Given the description of an element on the screen output the (x, y) to click on. 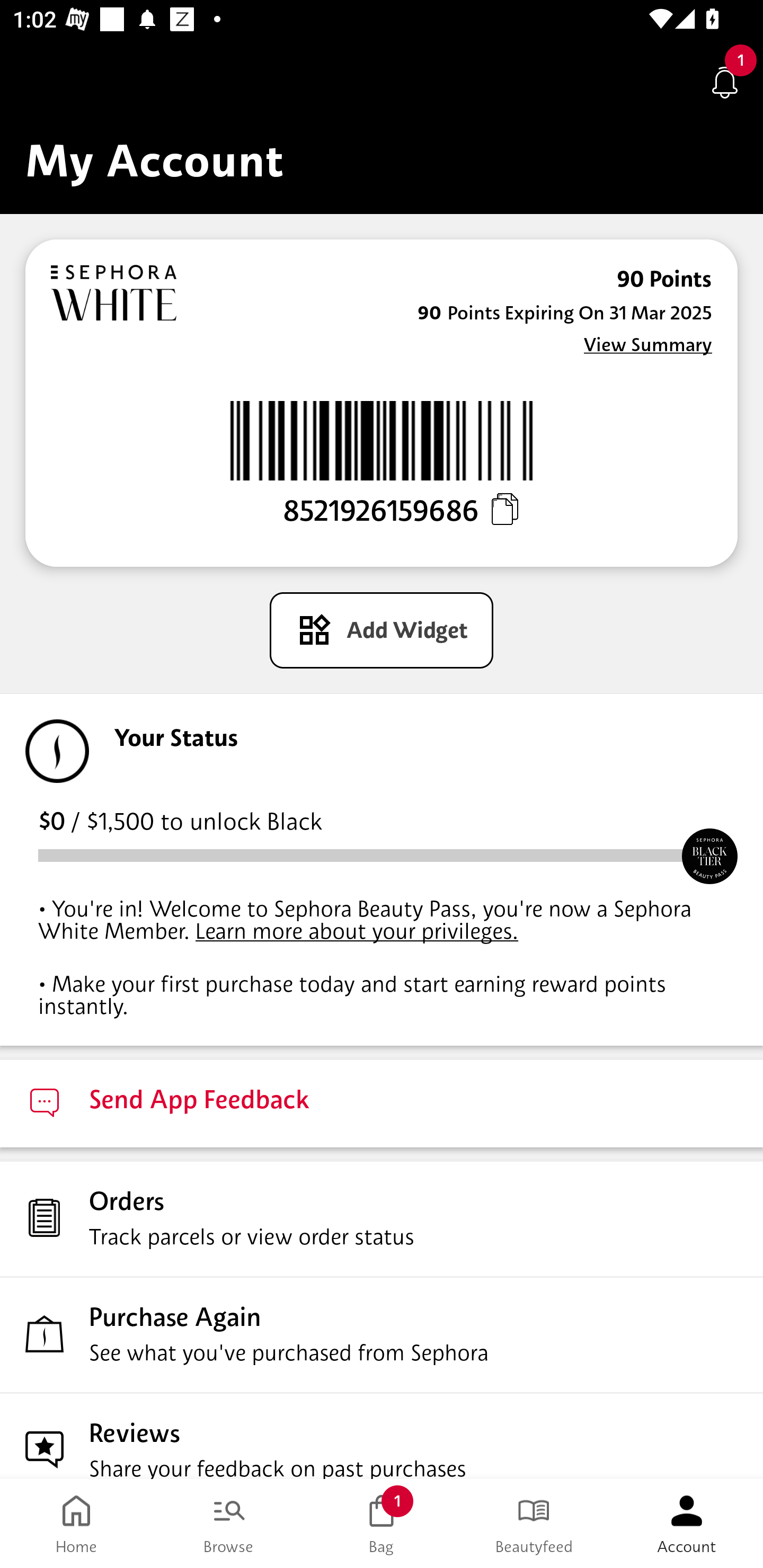
Notifications (724, 81)
View Summary (647, 343)
Add Widget (381, 629)
Send App Feedback (381, 1102)
Orders Track parcels or view order status (381, 1218)
Reviews Share your feedback on past purchases (381, 1435)
Home (76, 1523)
Browse (228, 1523)
Bag 1 Bag (381, 1523)
Beautyfeed (533, 1523)
